Given the description of an element on the screen output the (x, y) to click on. 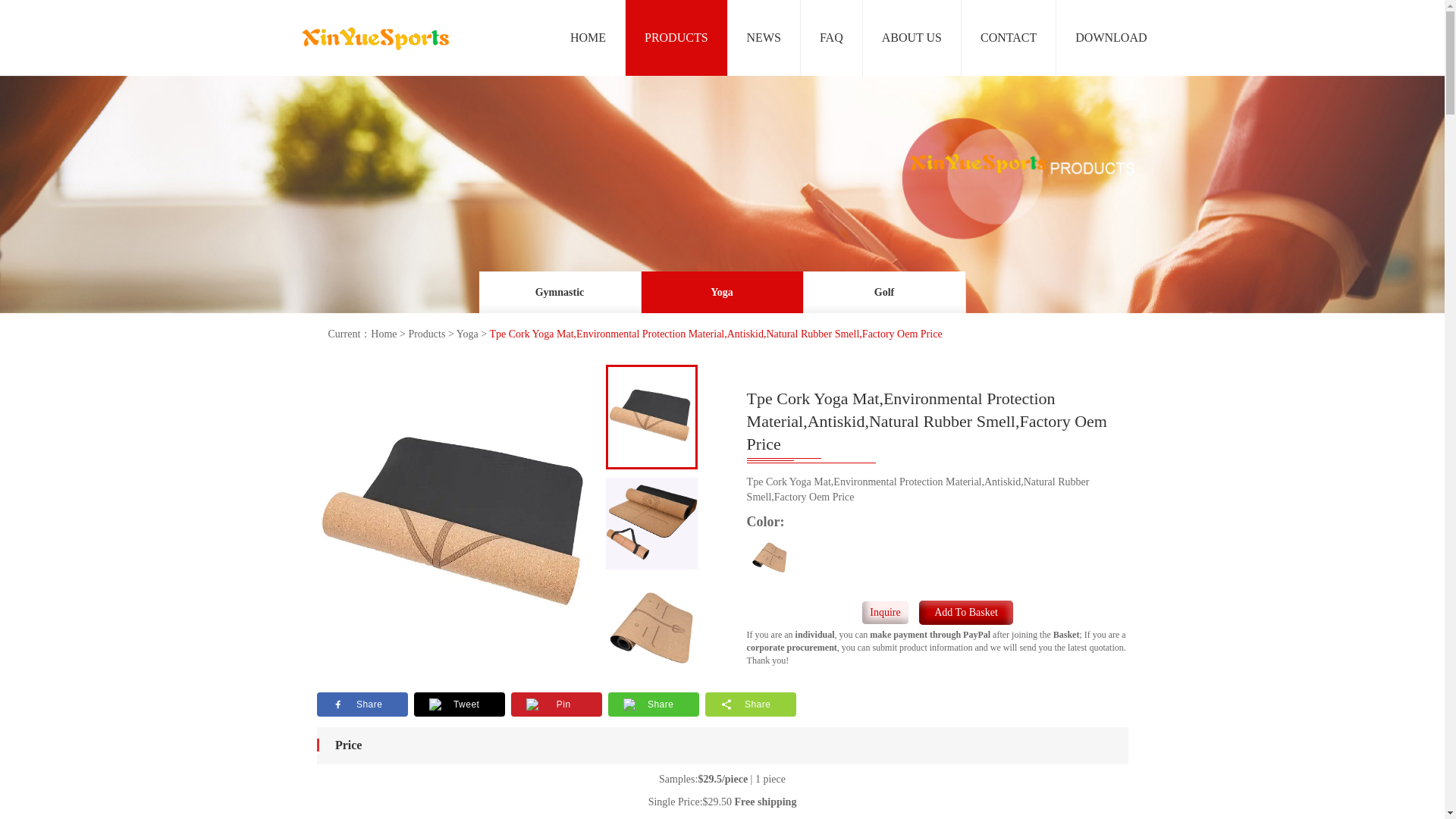
HOME (587, 38)
PRODUCTS (676, 38)
Cork (770, 557)
